Given the description of an element on the screen output the (x, y) to click on. 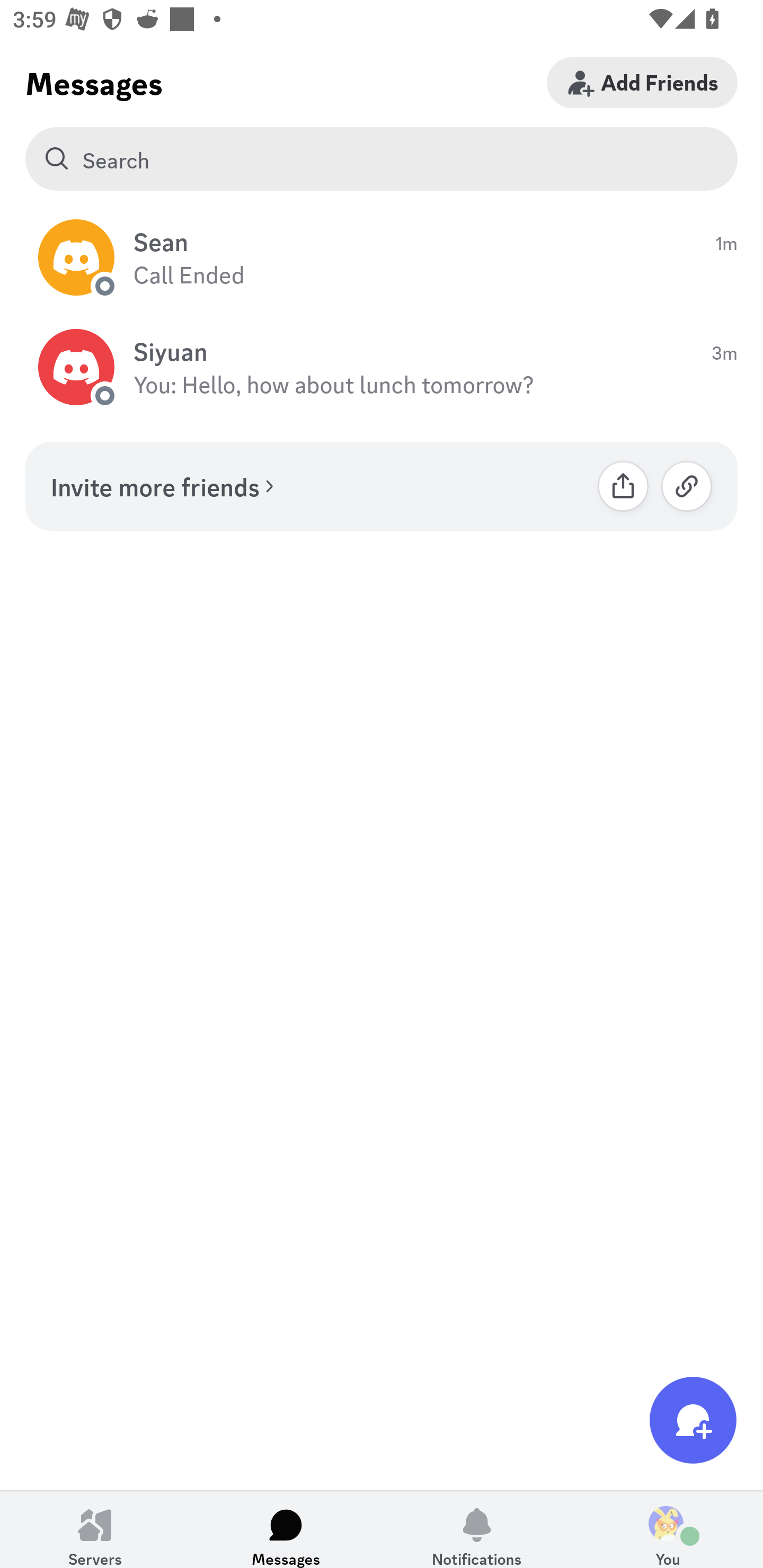
Add Friends (642, 82)
Search (381, 159)
Sean (direct message) Sean 1m Call Ended (381, 257)
Share Link (622, 485)
Copy Link (686, 485)
New Message (692, 1419)
Servers (95, 1529)
Messages (285, 1529)
Notifications (476, 1529)
You (667, 1529)
